Given the description of an element on the screen output the (x, y) to click on. 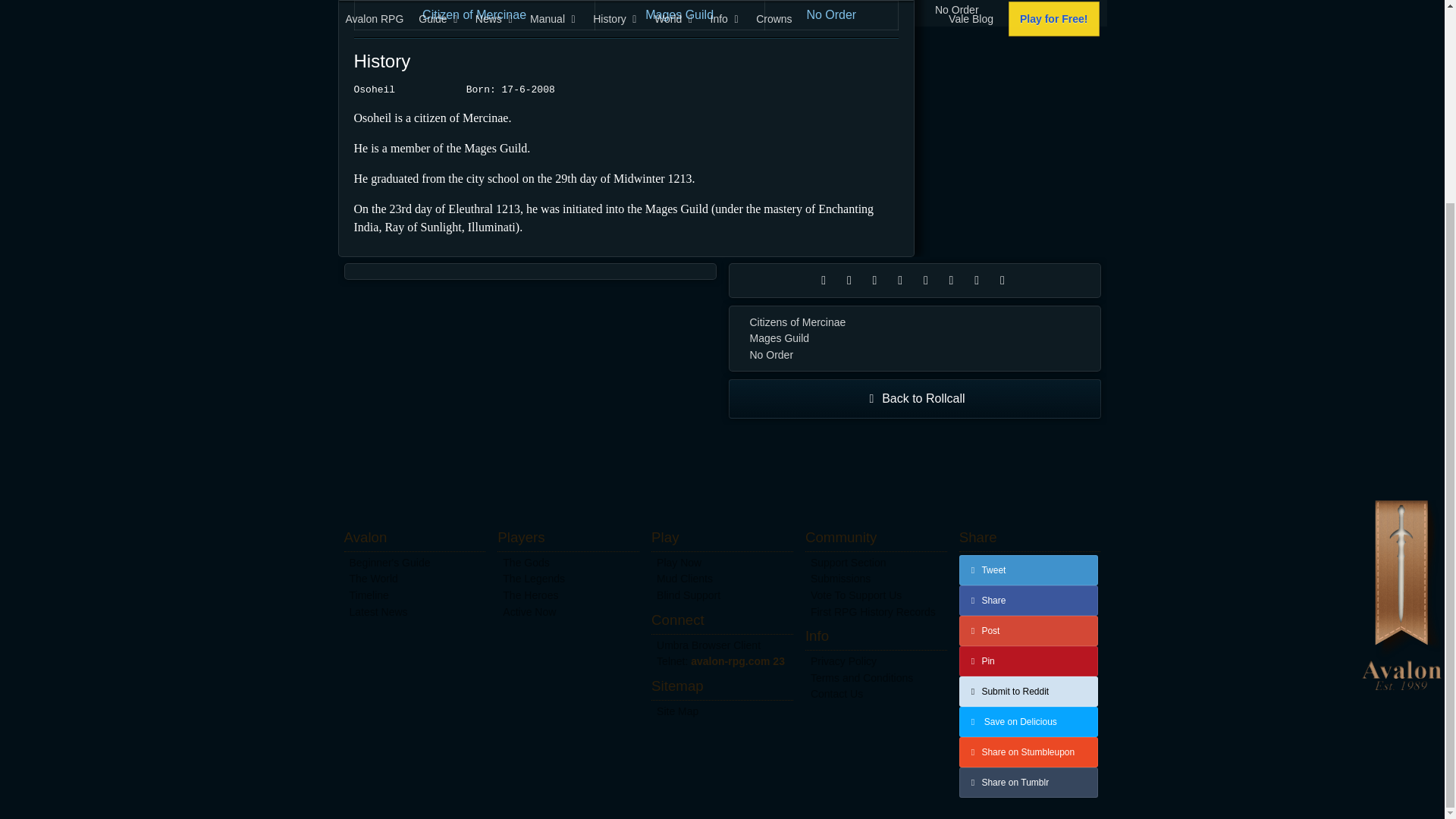
Back to Rollcall (914, 398)
Mages Guild (679, 14)
Beginner's Guide (414, 563)
Blind Support (721, 596)
Vote To Support Us (876, 596)
Share on Tumblr (1029, 782)
The Heroes (568, 596)
Mages Guild (914, 338)
No Order (1011, 10)
The Gods (568, 563)
